Given the description of an element on the screen output the (x, y) to click on. 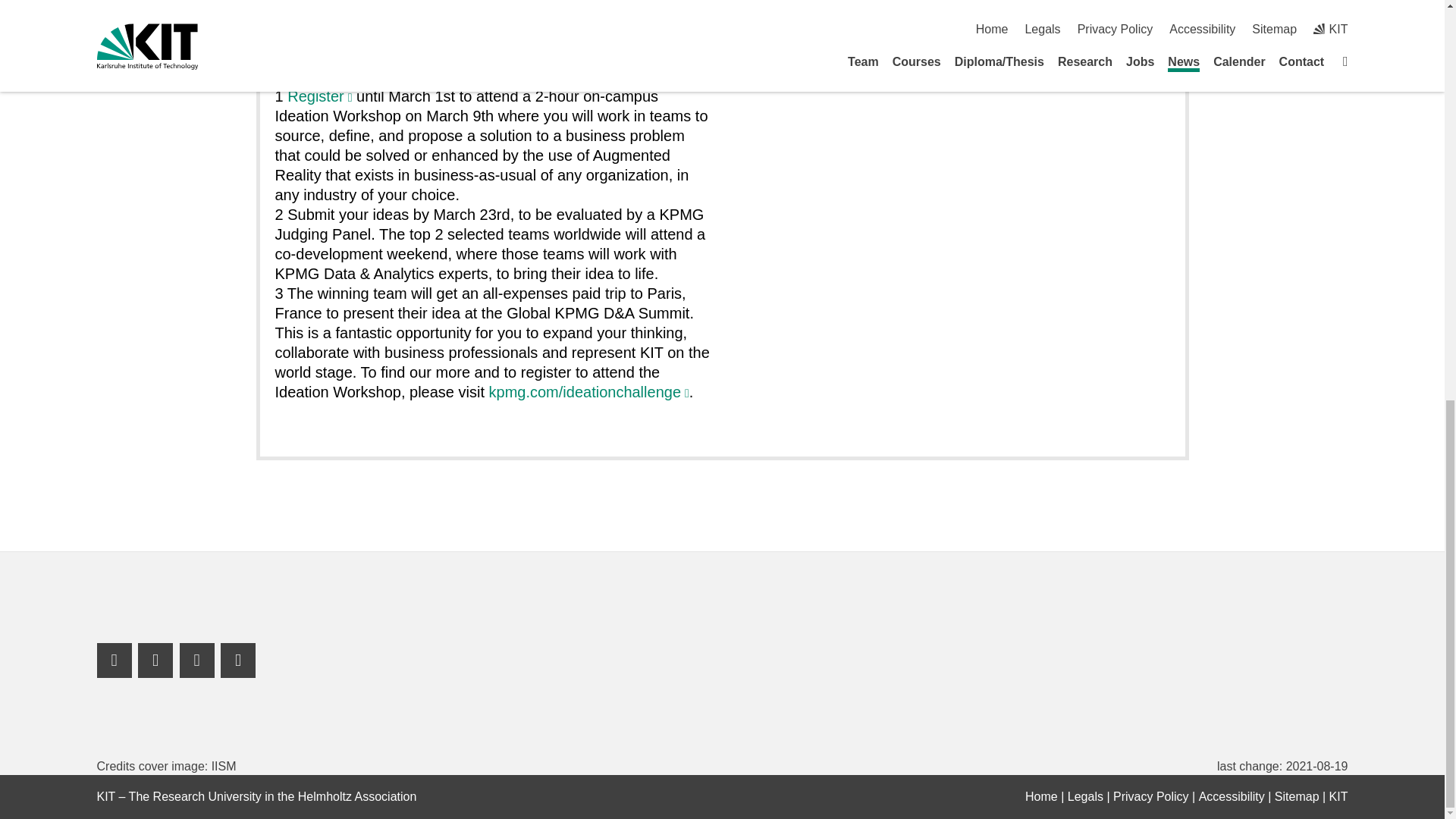
Instagram Profile (238, 660)
LinkedIn Profile  (155, 660)
startpage (1041, 796)
Facebook Profile  (114, 660)
